Given the description of an element on the screen output the (x, y) to click on. 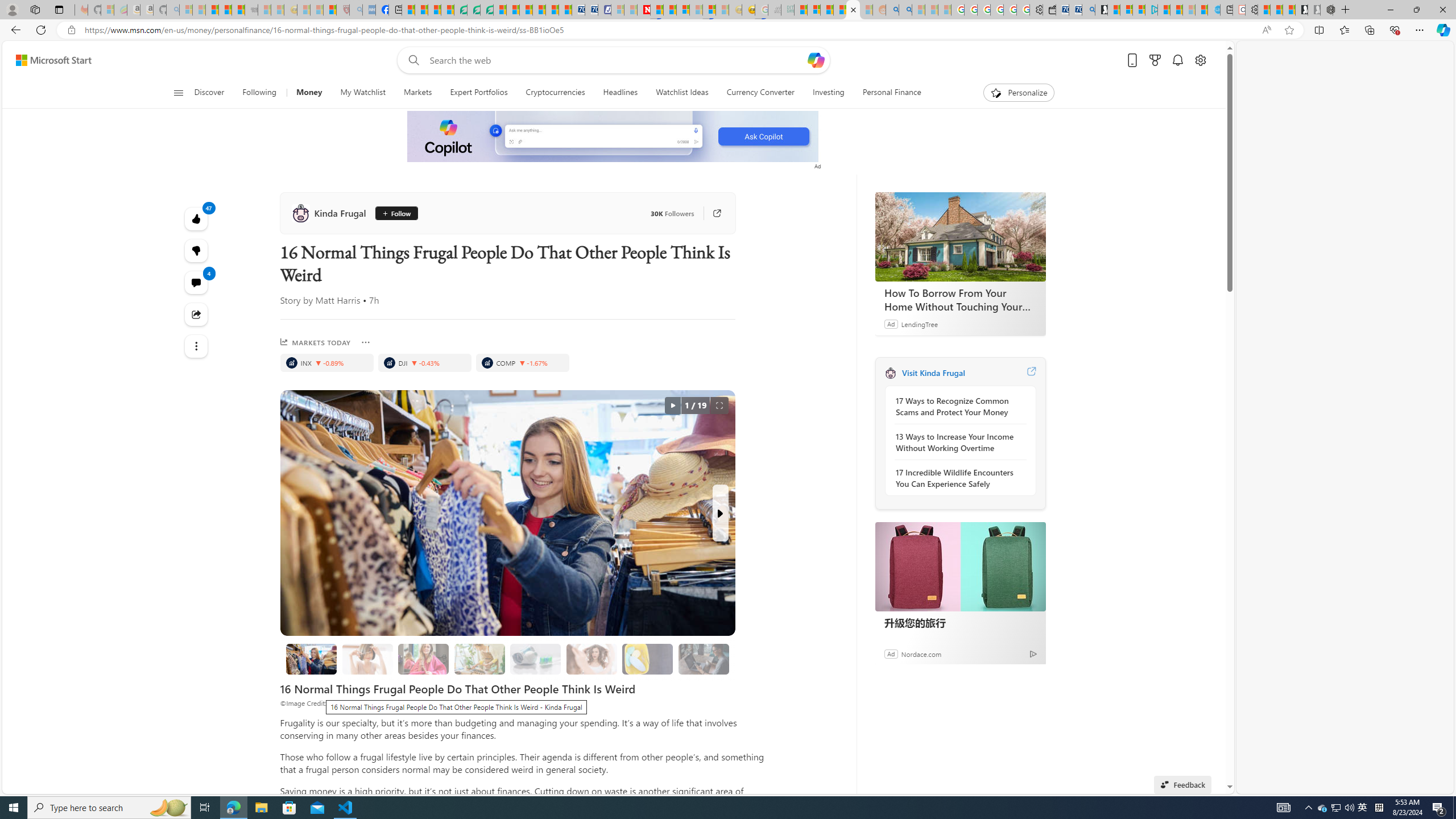
Microsoft Start (1163, 9)
LendingTree (919, 323)
See more (196, 345)
Enter your search term (617, 59)
8. Thrift Shopping (311, 658)
Discover (213, 92)
Nordace - Nordace Siena Is Not An Ordinary Backpack (1327, 9)
COMP, NASDAQ. Price is 17,619.35. Decreased by -1.67% (522, 362)
14 Common Myths Debunked By Scientific Facts (669, 9)
Combat Siege (251, 9)
Open settings (1199, 60)
1. Cutting Hair (367, 658)
